Given the description of an element on the screen output the (x, y) to click on. 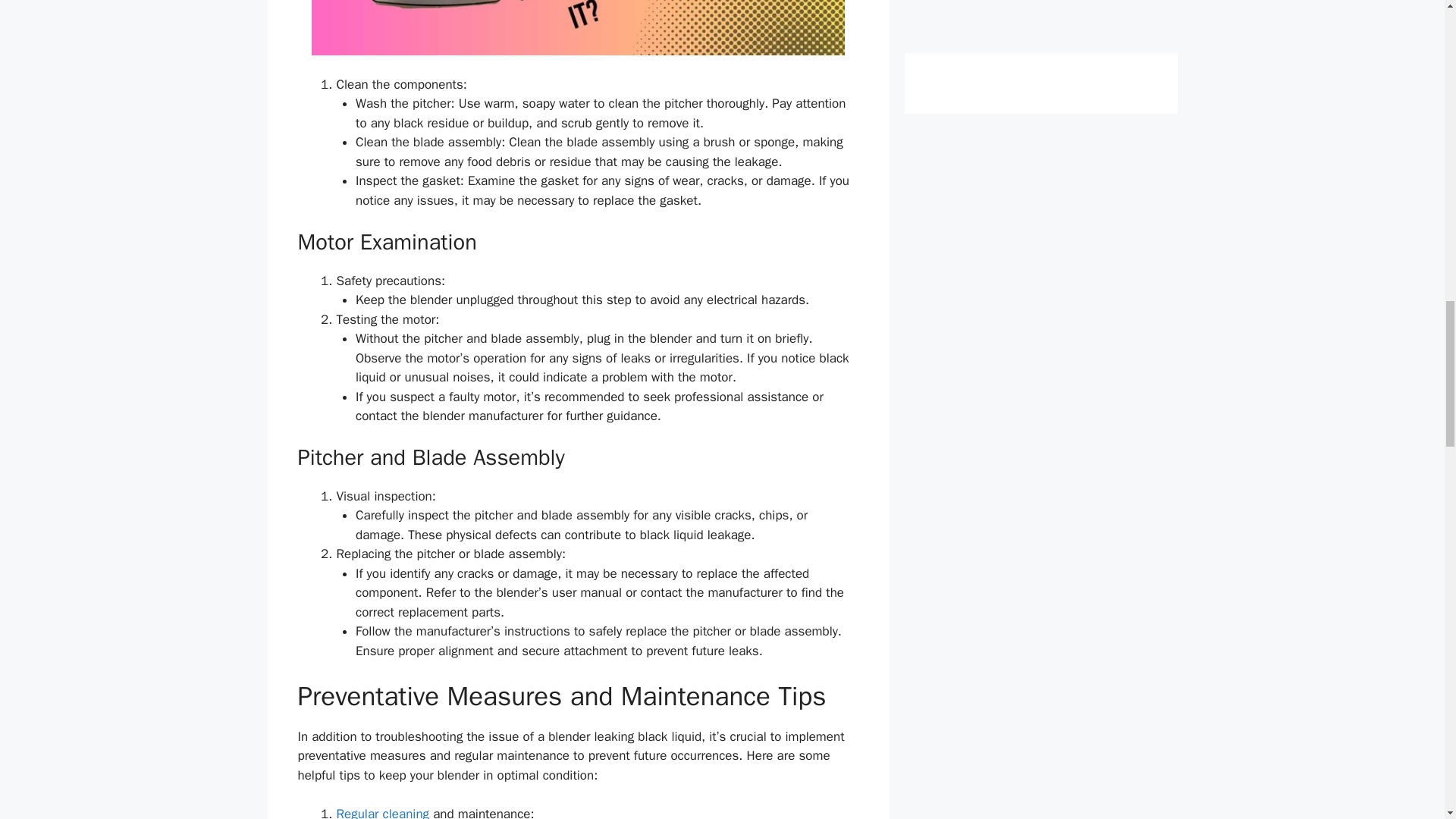
Regular cleaning (382, 812)
